Given the description of an element on the screen output the (x, y) to click on. 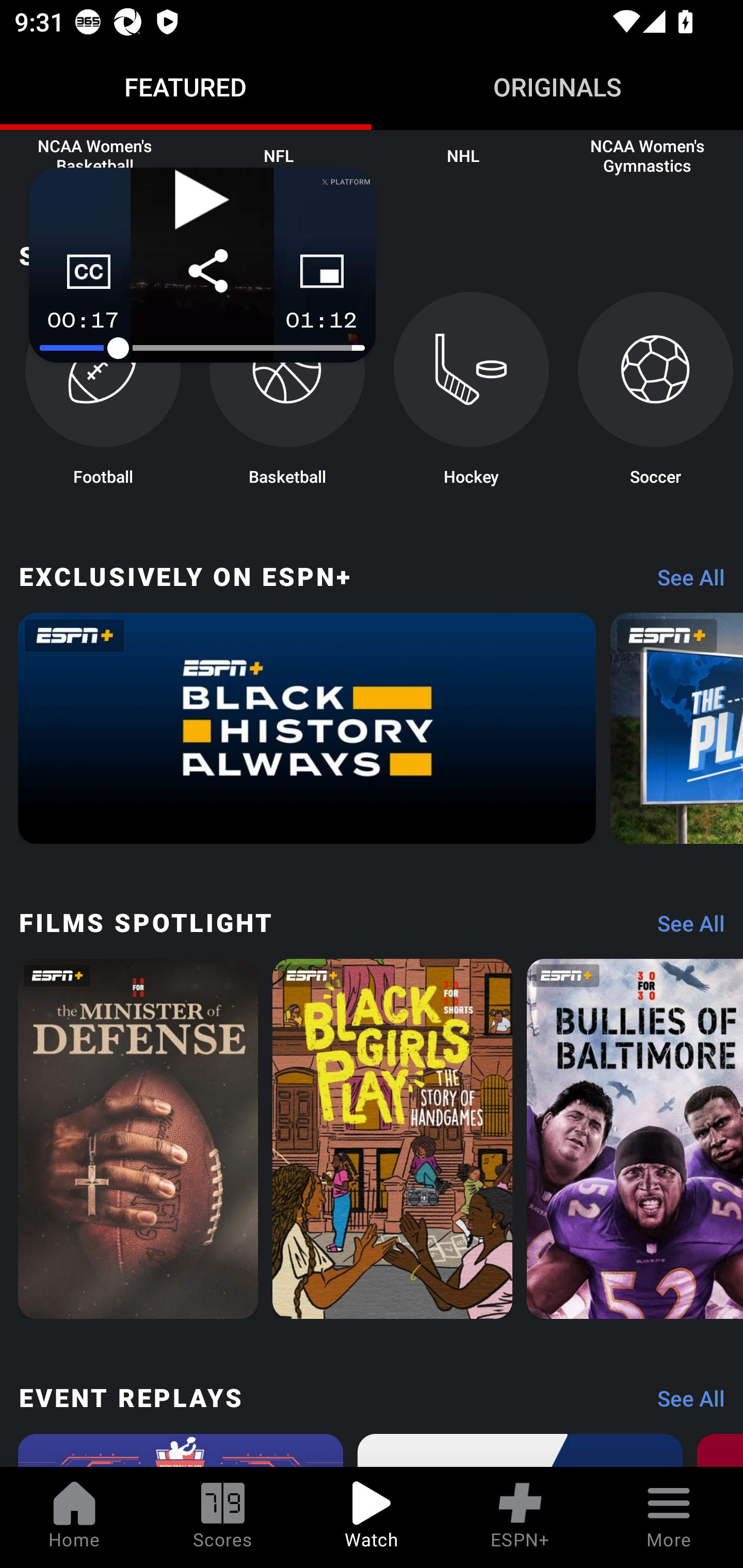
Originals ORIGINALS (557, 86)
NCAA Women's Basketball (94, 153)
NFL (278, 153)
NHL (462, 153)
NCAA Women's Gymnastics (647, 153)
Hockey (471, 394)
Soccer (655, 394)
See All (683, 582)
See All (683, 927)
See All (683, 1402)
Home (74, 1517)
Scores (222, 1517)
ESPN+ (519, 1517)
More (668, 1517)
